Given the description of an element on the screen output the (x, y) to click on. 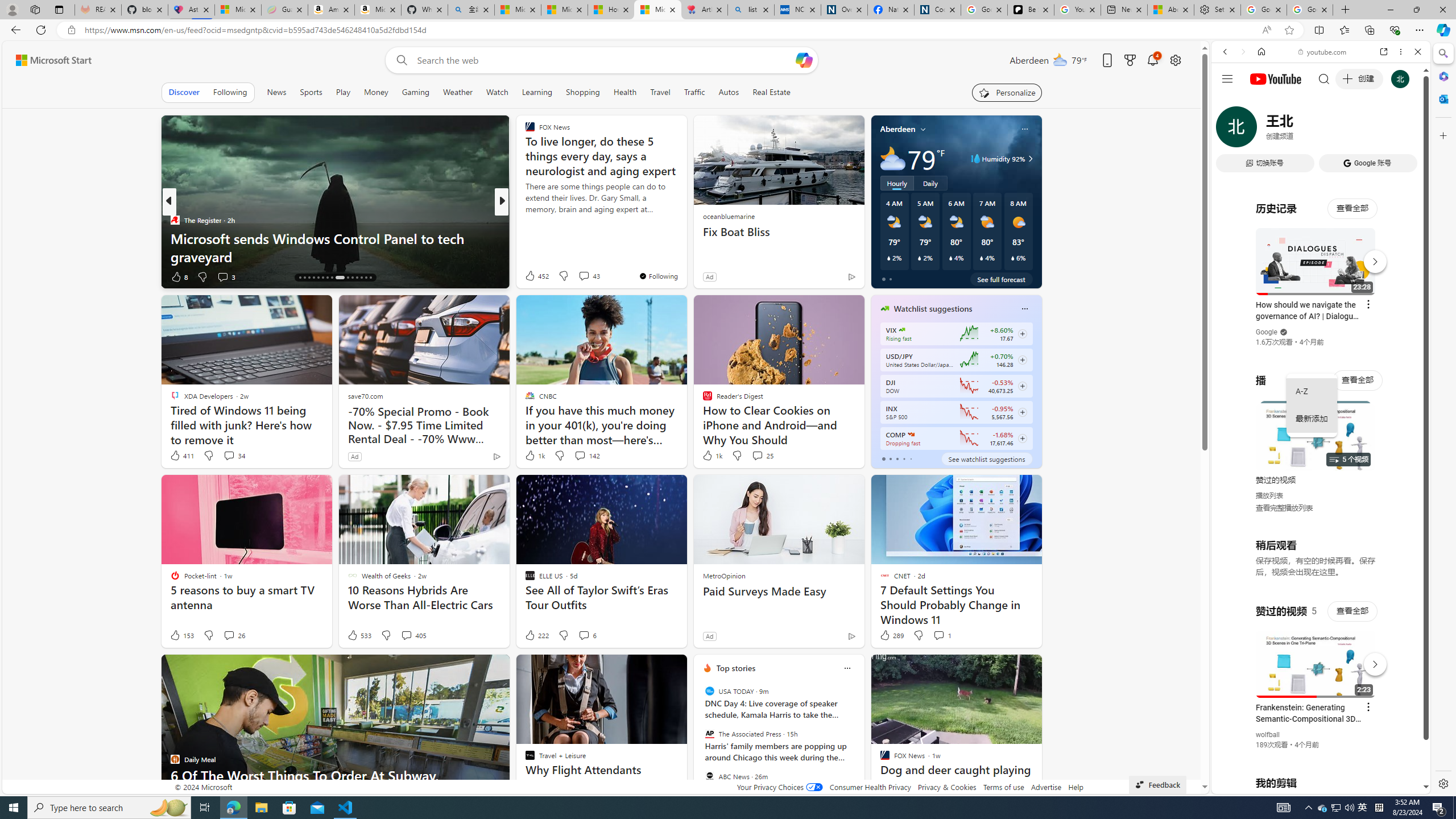
Trailer #2 [HD] (1320, 336)
#you (1320, 253)
list of asthma inhalers uk - Search (750, 9)
Aberdeen (897, 128)
